Given the description of an element on the screen output the (x, y) to click on. 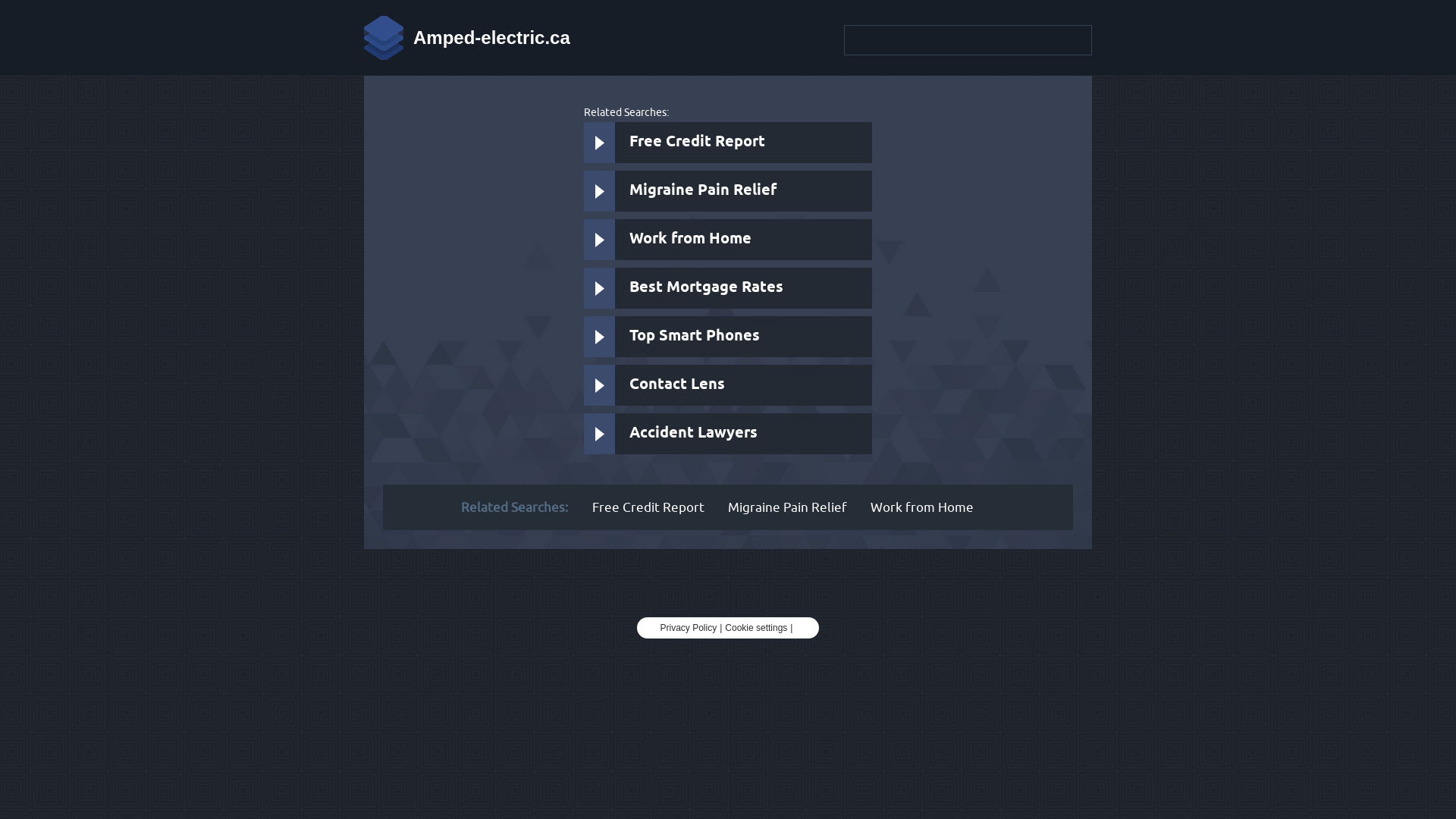
Migraine Pain Relief Element type: text (787, 506)
Accident Lawyers Element type: text (727, 433)
Work from Home Element type: text (727, 239)
Migraine Pain Relief Element type: text (727, 190)
Privacy Policy Element type: text (687, 627)
Cookie settings Element type: text (755, 627)
Work from Home Element type: text (921, 506)
Top Smart Phones Element type: text (727, 336)
Amped-electric.ca Element type: text (467, 37)
Best Mortgage Rates Element type: text (727, 287)
Free Credit Report Element type: text (727, 142)
Contact Lens Element type: text (727, 384)
Free Credit Report Element type: text (648, 506)
